Given the description of an element on the screen output the (x, y) to click on. 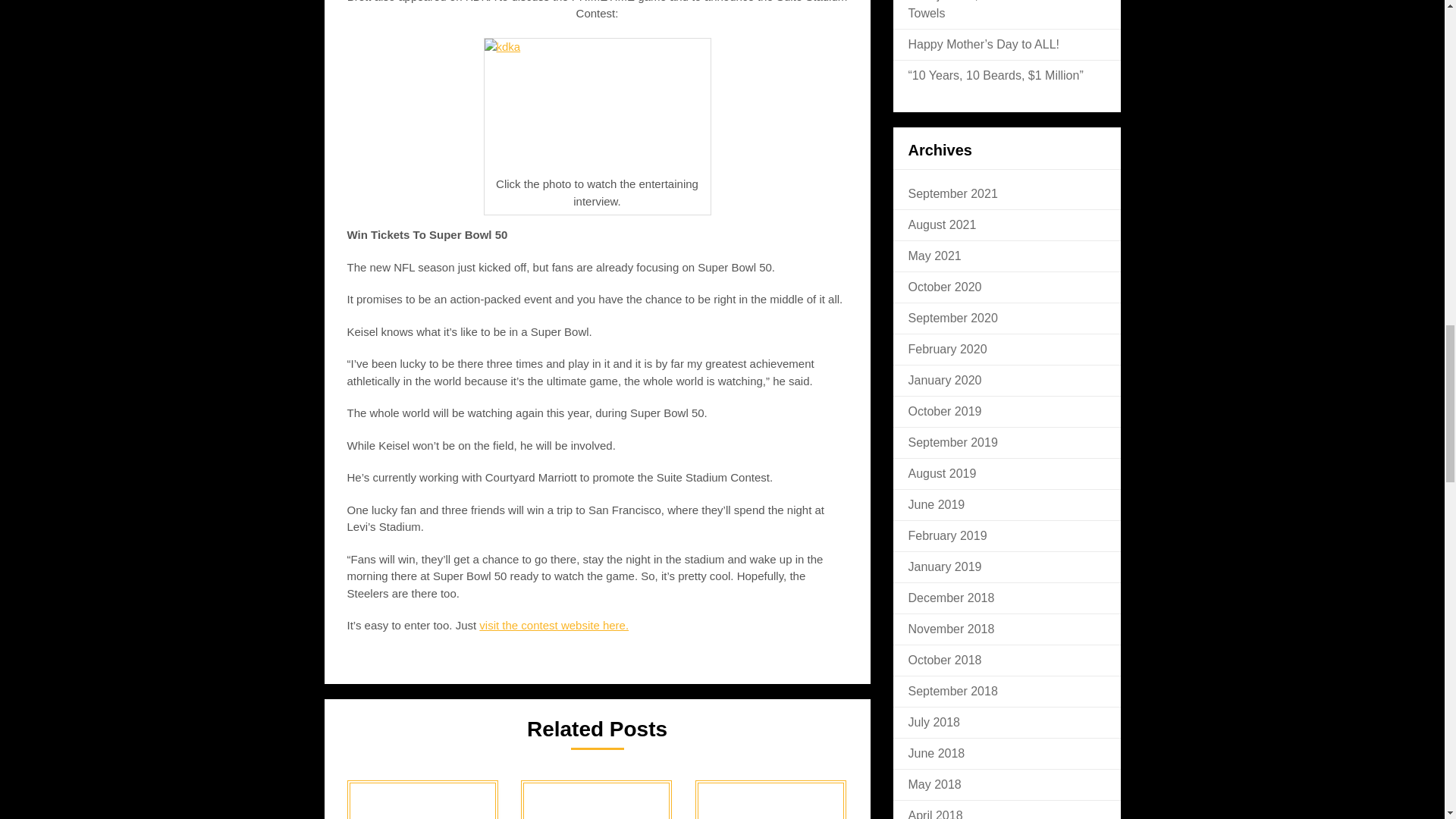
Gold jackets, Inductions and Terrible Towels (1005, 9)
visit the contest website here. (553, 625)
